Given the description of an element on the screen output the (x, y) to click on. 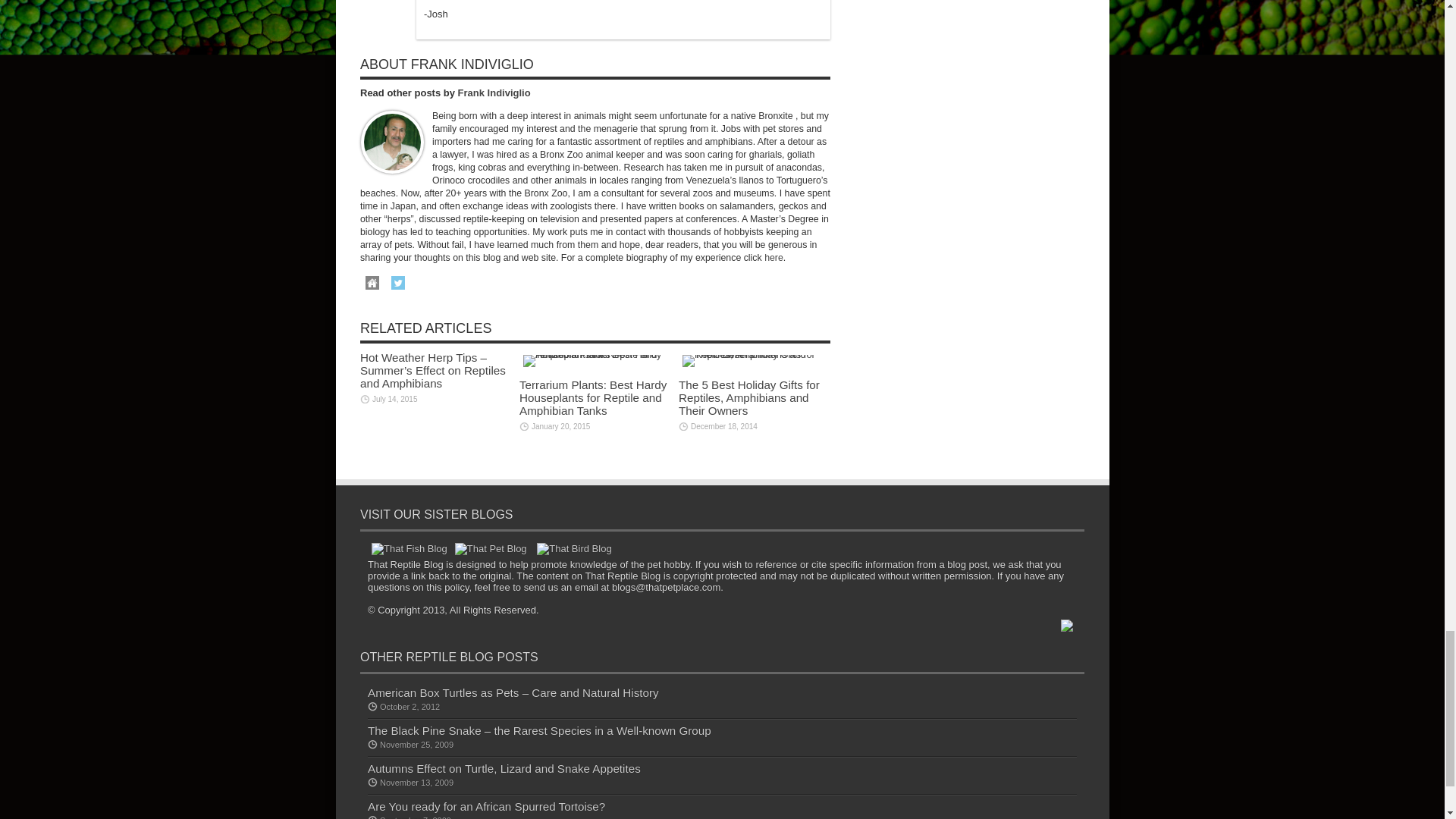
Posts by Frank Indiviglio (494, 91)
